Given the description of an element on the screen output the (x, y) to click on. 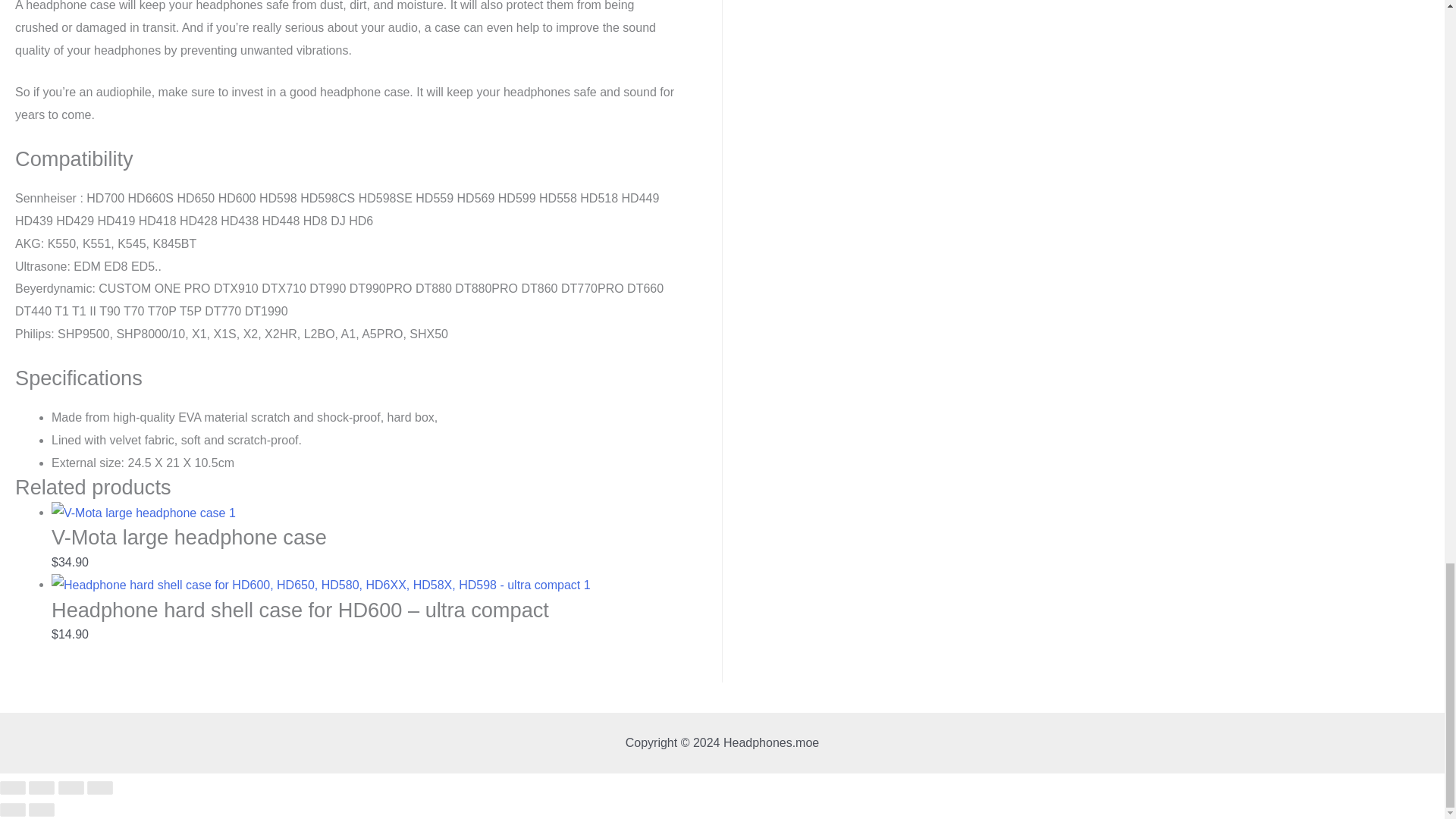
V-Mota large headphone case (363, 546)
